Given the description of an element on the screen output the (x, y) to click on. 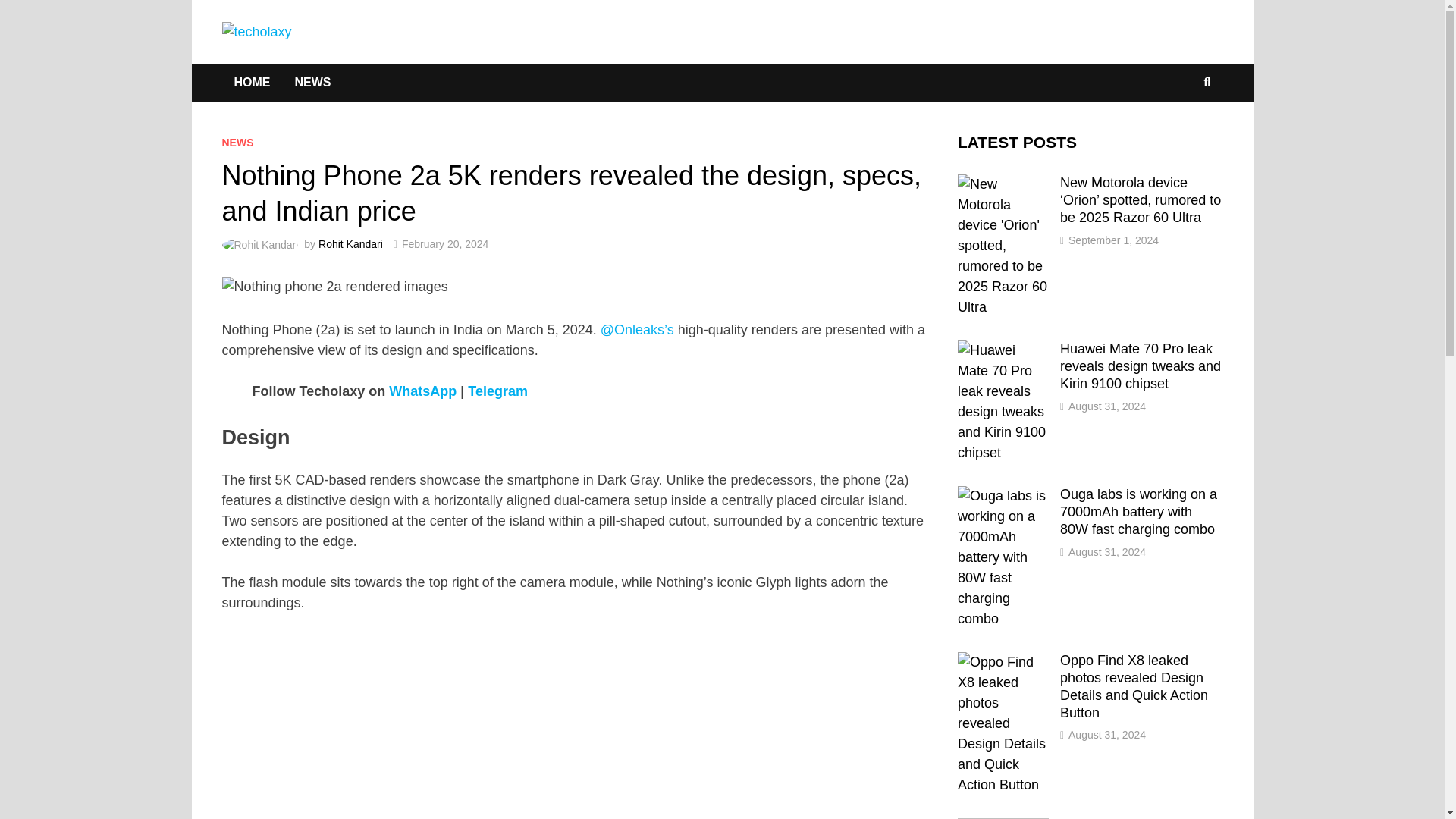
February 20, 2024 (444, 244)
September 1, 2024 (1113, 240)
WhatsApp (422, 391)
NEWS (237, 142)
August 31, 2024 (1106, 734)
August 31, 2024 (1106, 406)
August 31, 2024 (1106, 551)
